Given the description of an element on the screen output the (x, y) to click on. 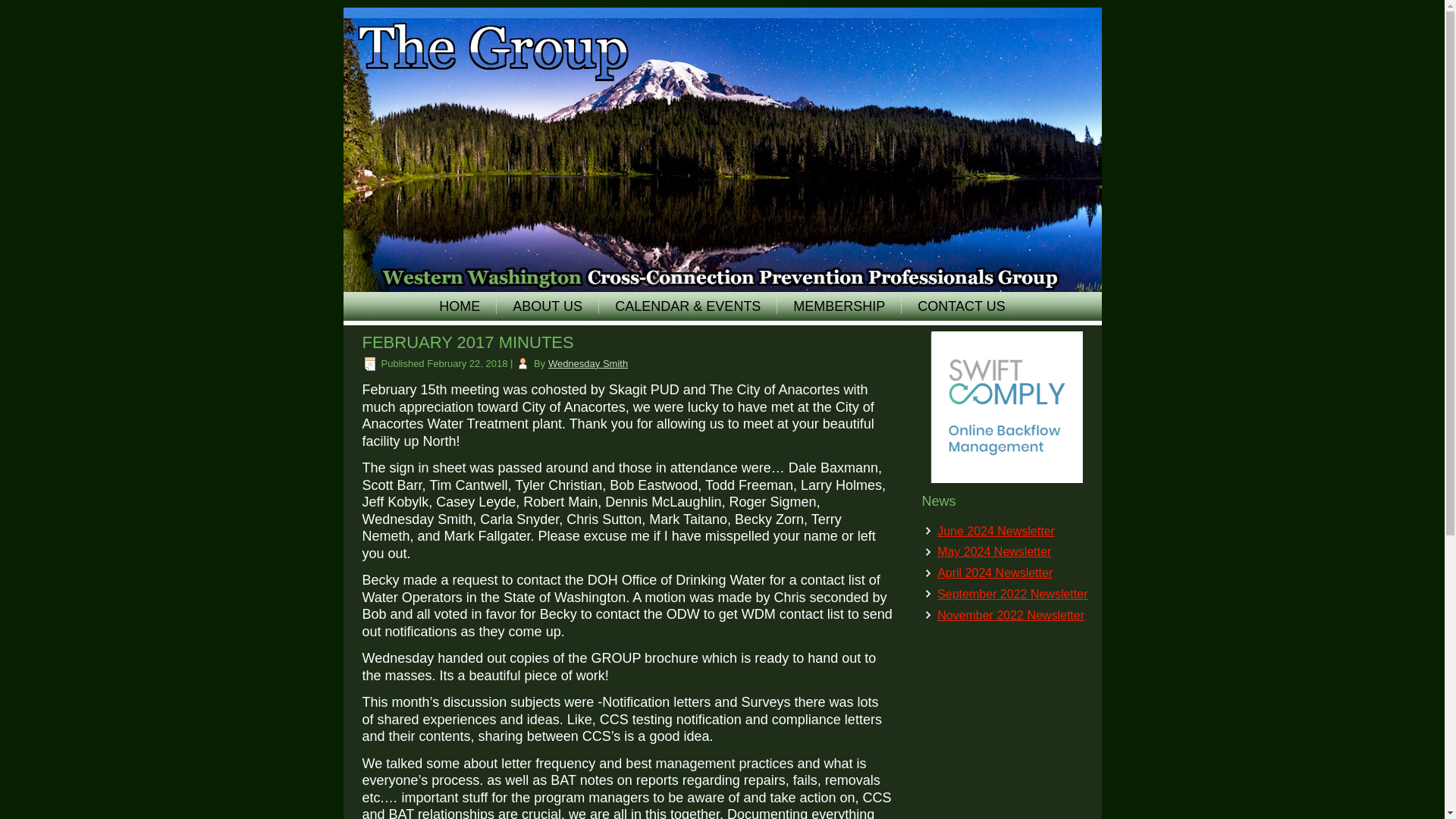
MEMBERSHIP (838, 306)
June 2024 Newsletter (995, 530)
April 2024 Newsletter (994, 572)
Home (459, 306)
Wednesday Smith (587, 363)
ABOUT US (547, 306)
ABOUT US (547, 306)
May 2024 Newsletter (994, 551)
HOME (459, 306)
CONTACT US (960, 306)
